Given the description of an element on the screen output the (x, y) to click on. 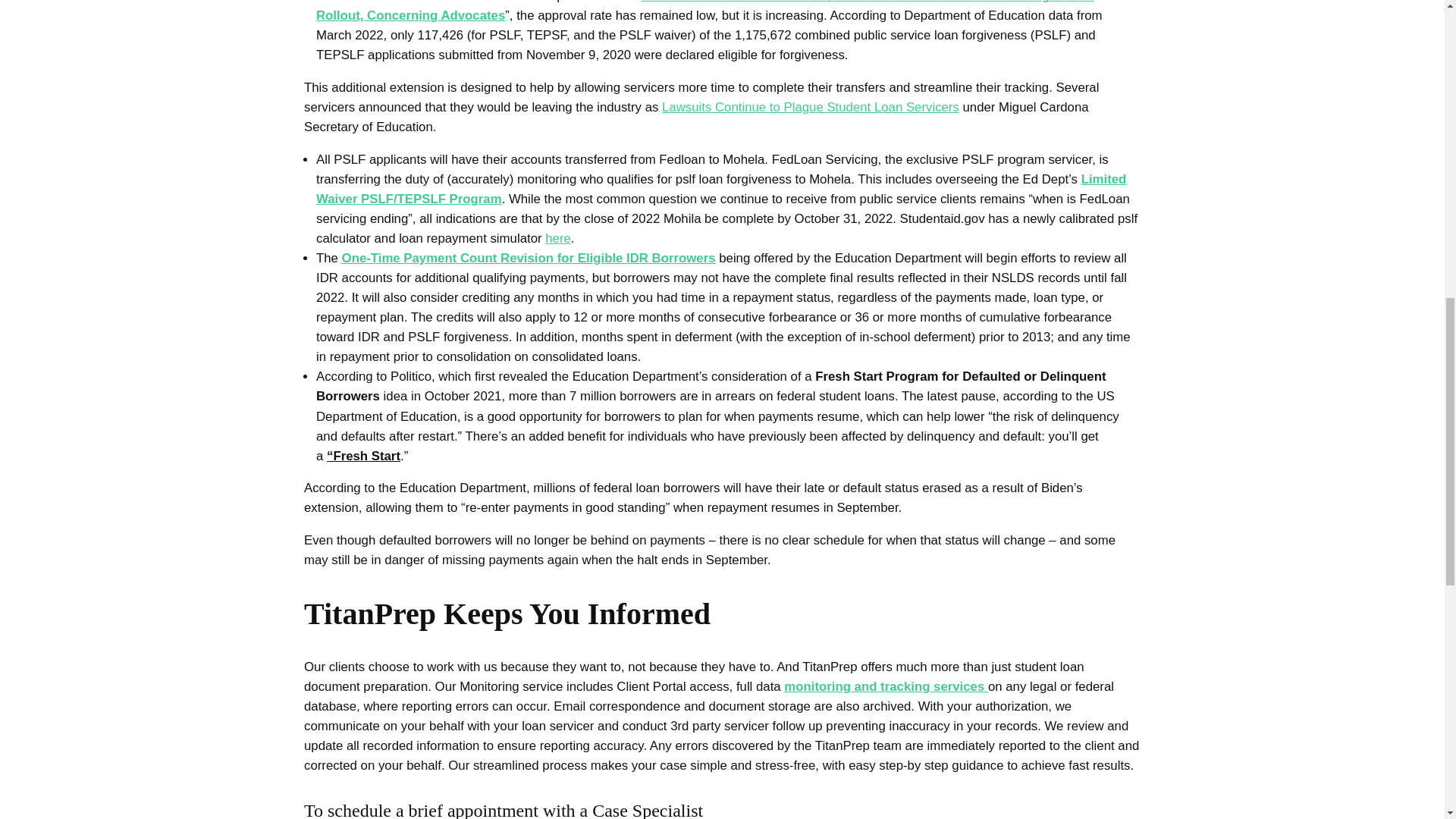
One-Time Payment Count Revision for Eligible IDR Borrowers (529, 257)
here (557, 237)
monitoring and tracking services  (886, 686)
Lawsuits Continue to Plague Student Loan Servicers (810, 106)
